Given the description of an element on the screen output the (x, y) to click on. 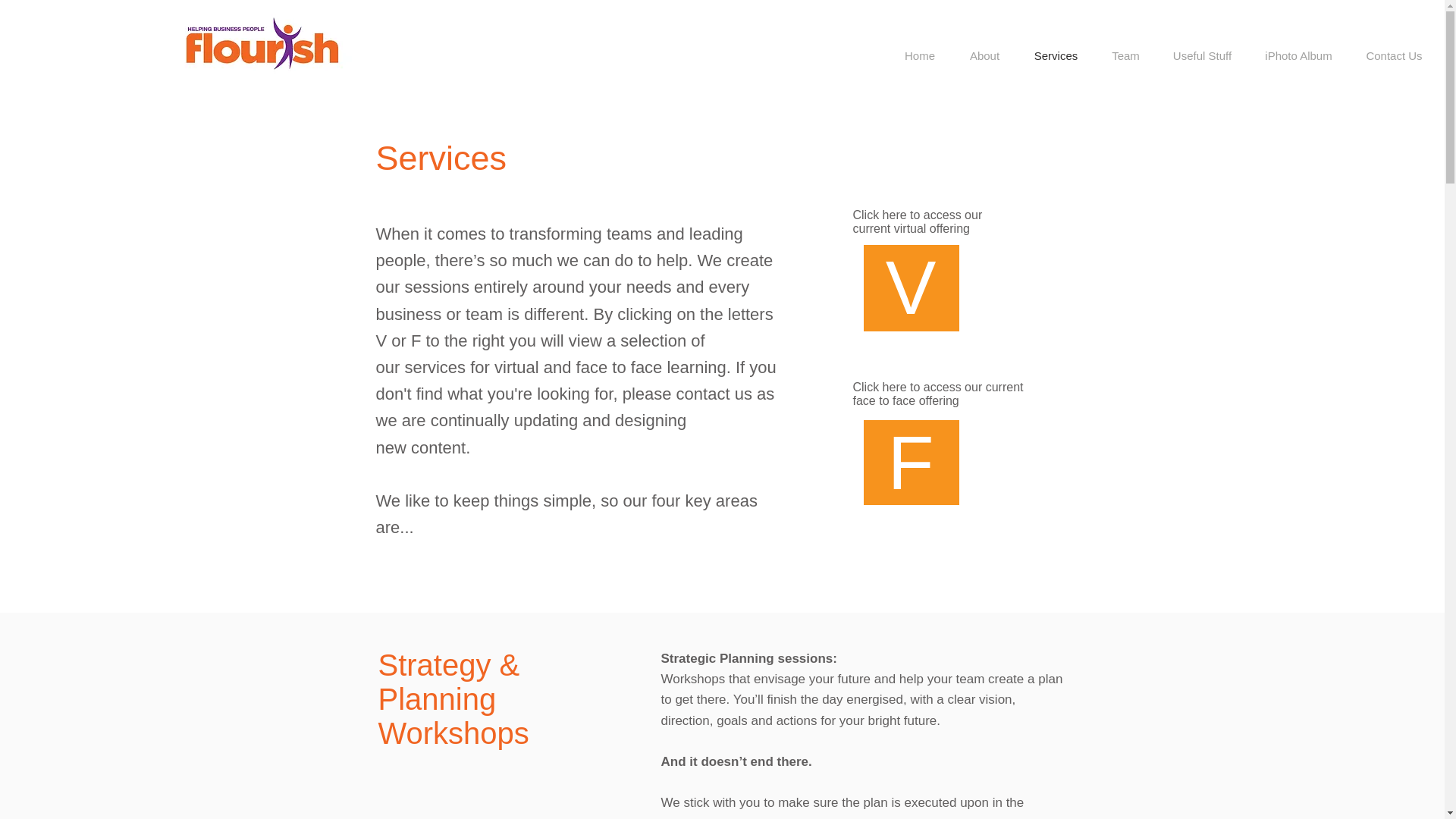
Services (1055, 55)
Contact Us (1394, 55)
Team (1125, 55)
About (984, 55)
F (909, 462)
Flourish logo captured.JPG (263, 42)
Home (919, 55)
V (910, 287)
iPhoto Album (1298, 55)
Useful Stuff (1201, 55)
